Given the description of an element on the screen output the (x, y) to click on. 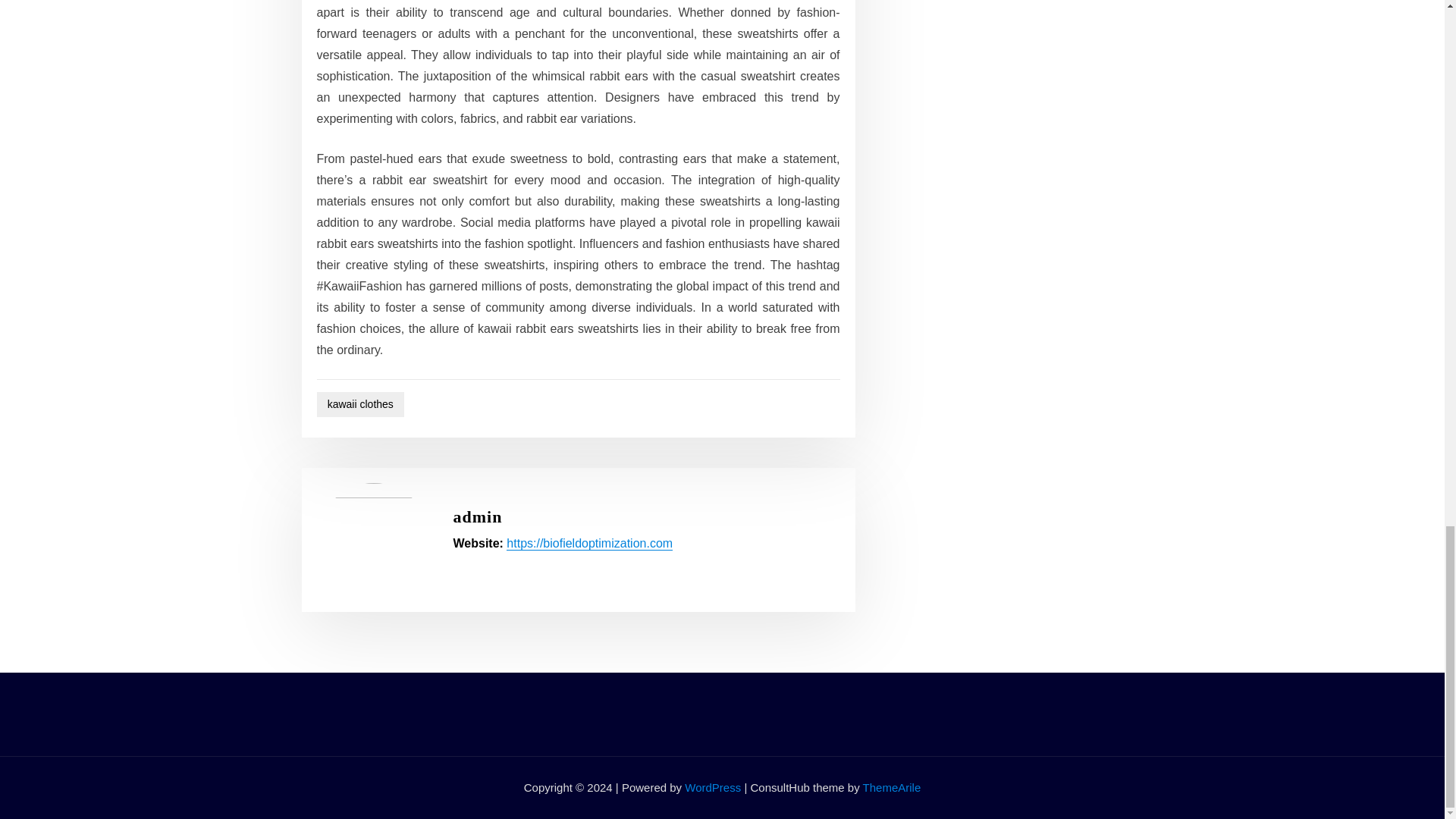
WordPress (712, 787)
admin (477, 516)
kawaii clothes (360, 404)
ThemeArile (892, 787)
